Given the description of an element on the screen output the (x, y) to click on. 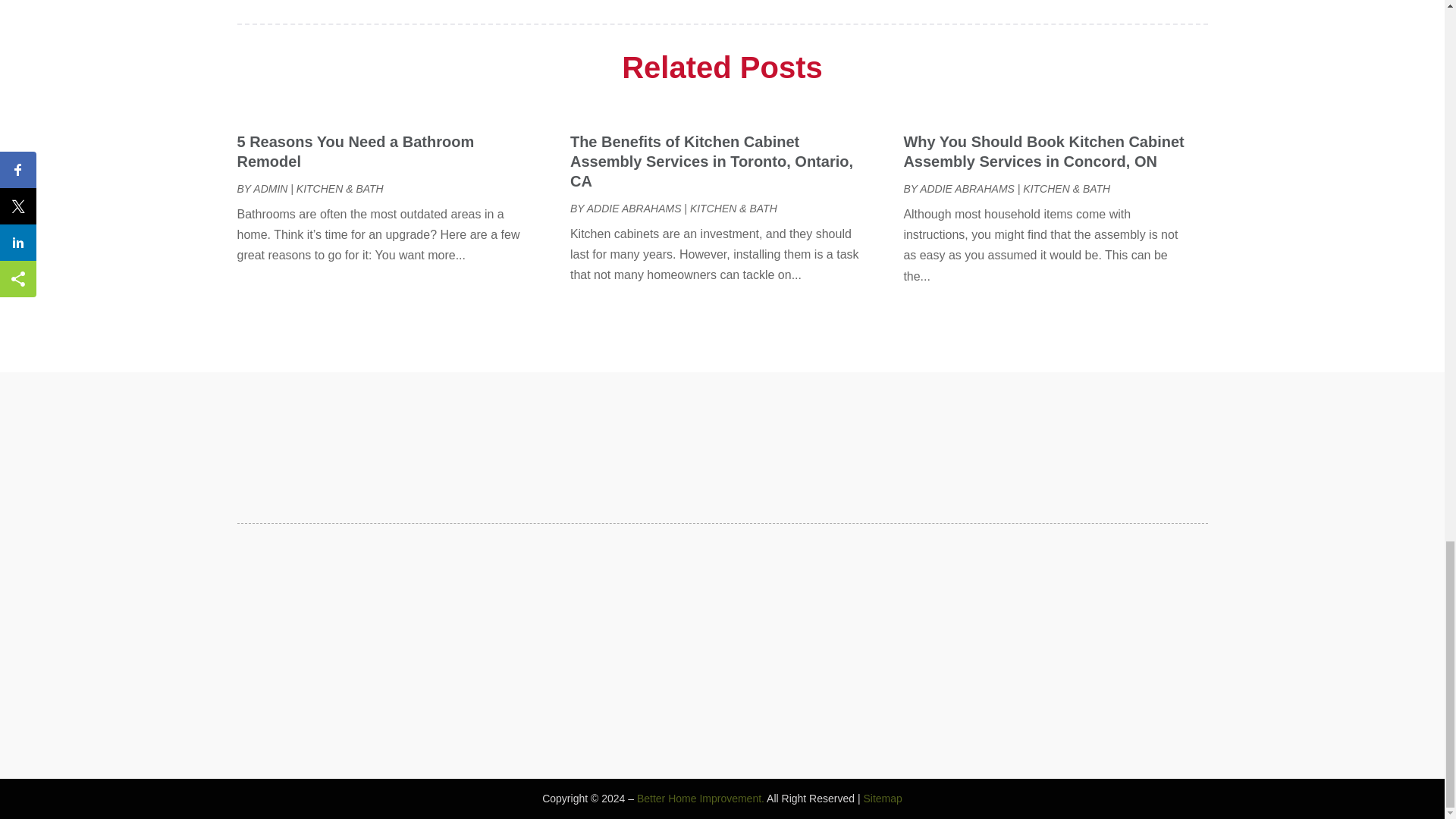
Construction And Maintenance (986, 8)
Posts by Addie Abrahams (633, 208)
Posts by Addie Abrahams (967, 188)
Posts by admin (269, 188)
